Given the description of an element on the screen output the (x, y) to click on. 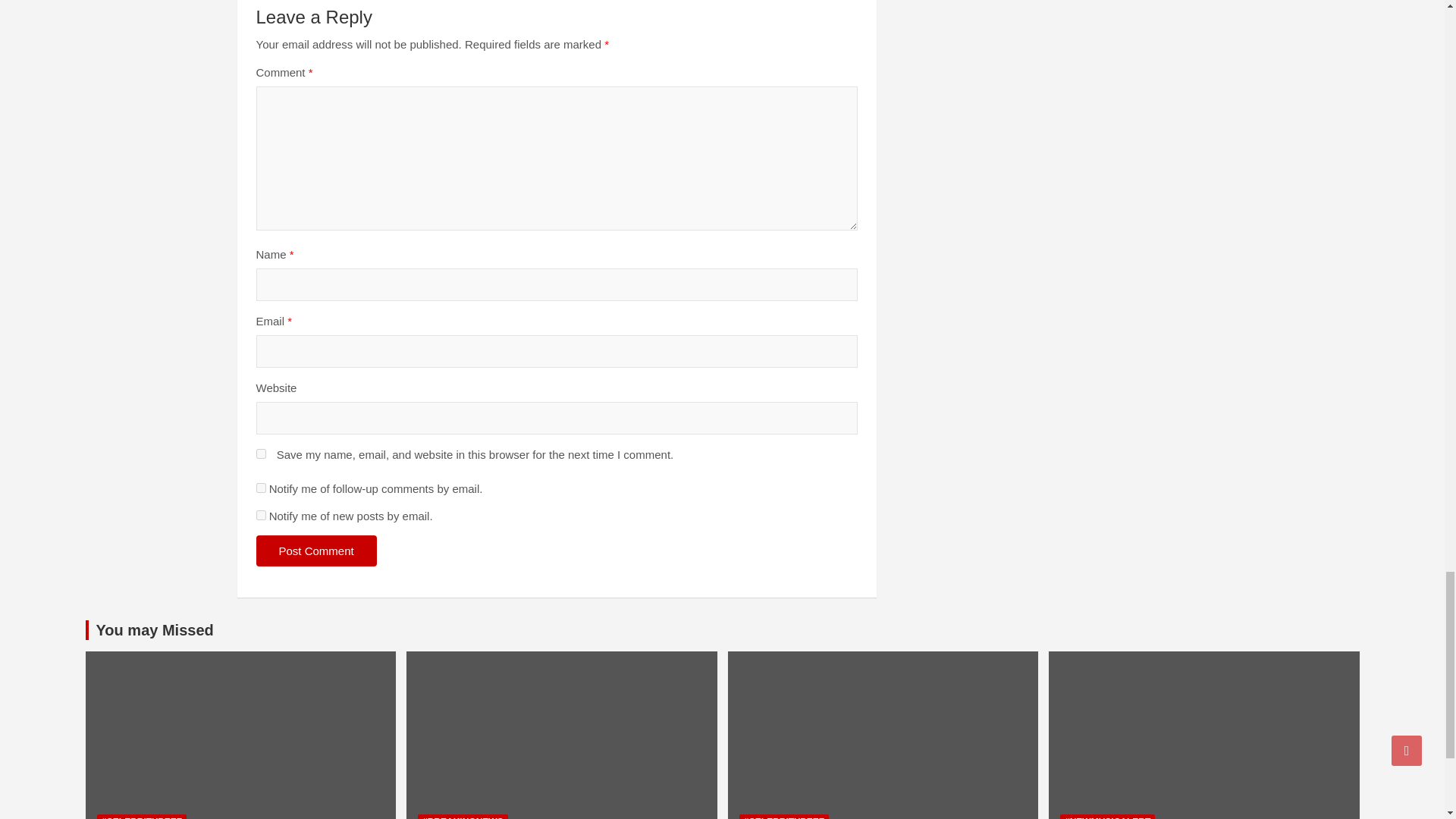
subscribe (261, 488)
subscribe (261, 515)
yes (261, 453)
Post Comment (316, 550)
